Given the description of an element on the screen output the (x, y) to click on. 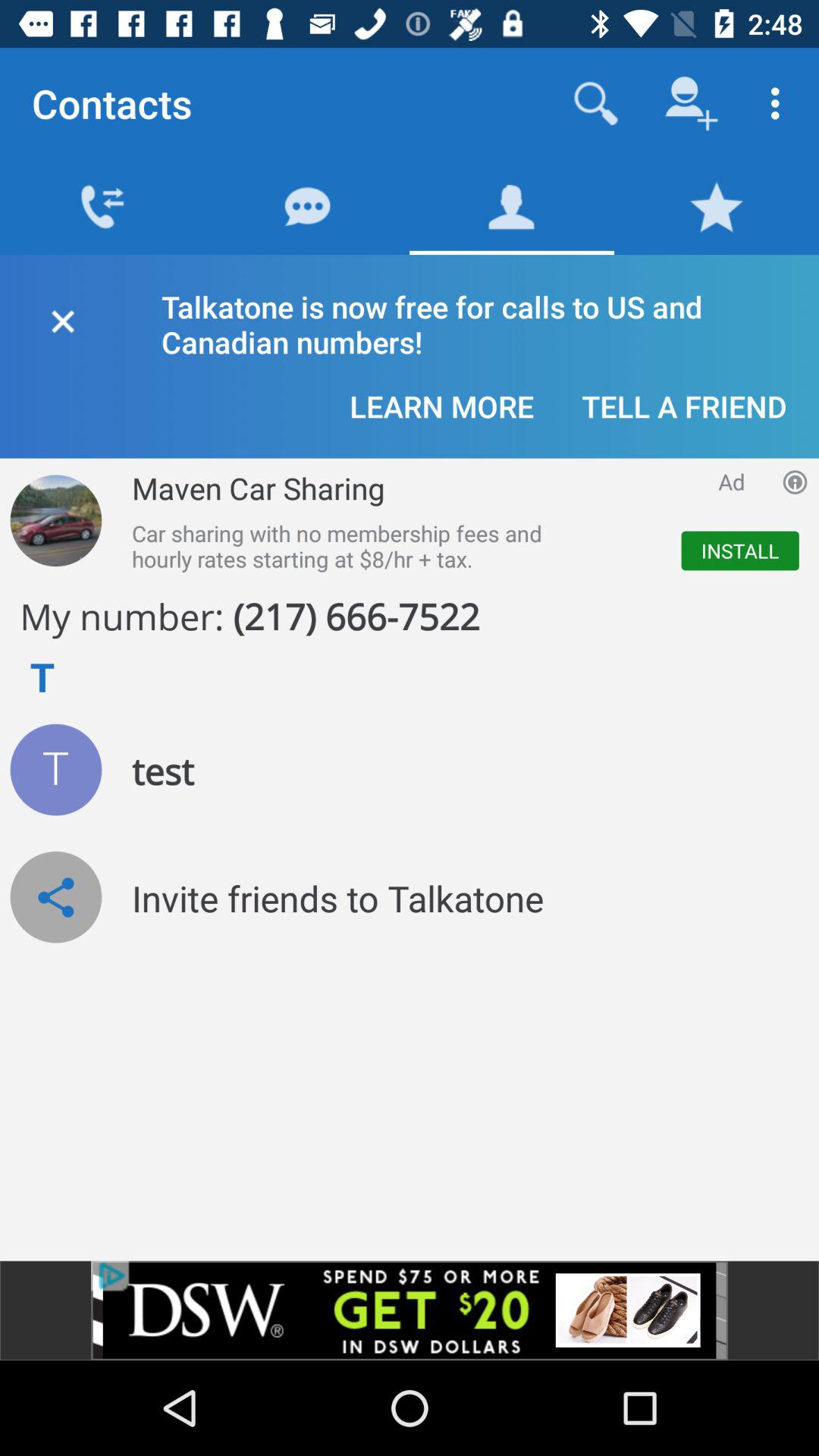
search contacts (595, 103)
